Given the description of an element on the screen output the (x, y) to click on. 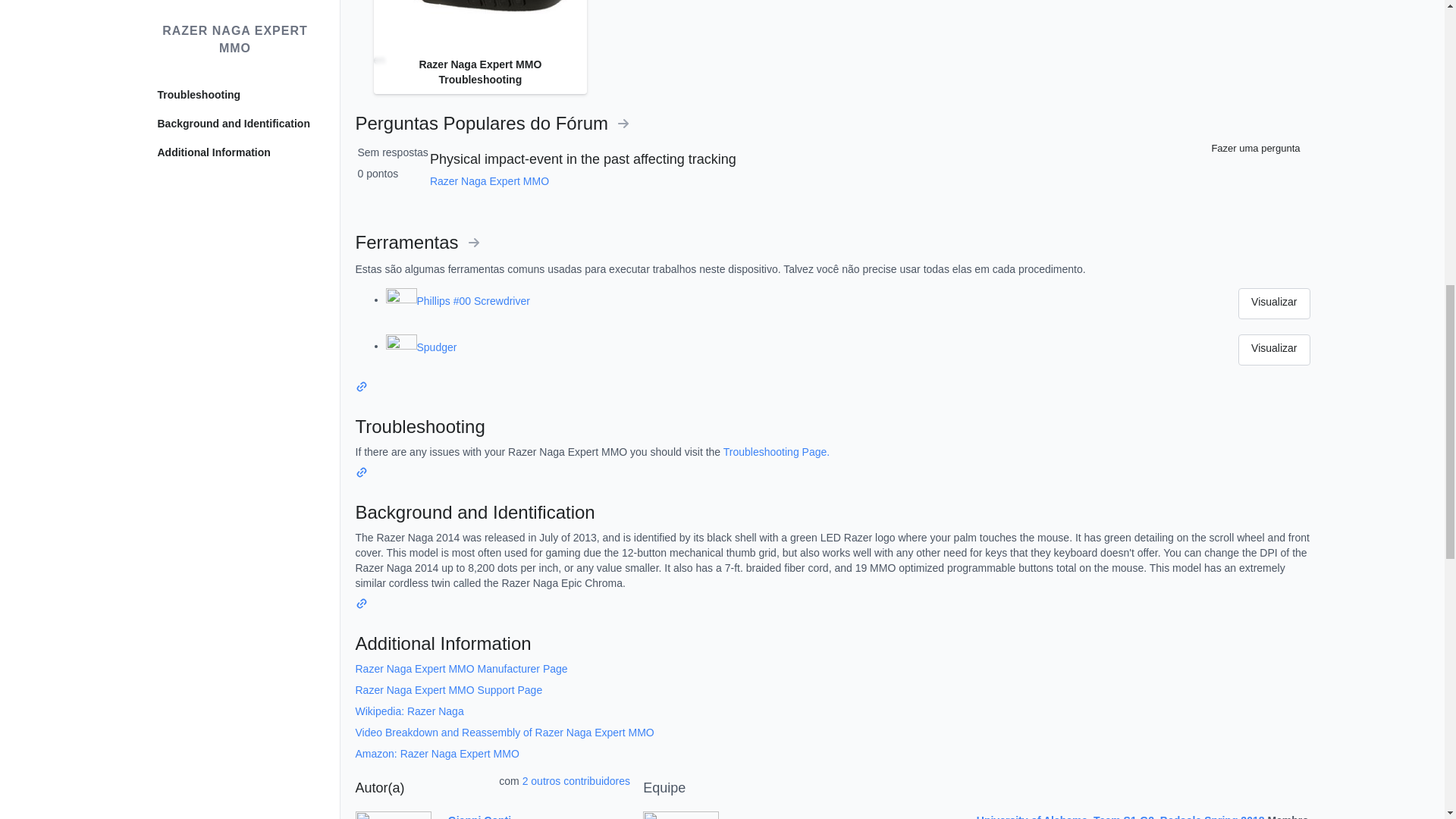
Wikipedia: Razer Naga (409, 711)
Razer Naga Expert MMO Troubleshooting (479, 26)
Visualizar (1273, 303)
Spudger (827, 347)
Physical impact-event in the past affecting tracking (582, 159)
Razer Naga Expert MMO Support Page (448, 689)
Fazer uma pergunta (1252, 148)
Ferramentas (417, 241)
Troubleshooting Page. (776, 451)
